Given the description of an element on the screen output the (x, y) to click on. 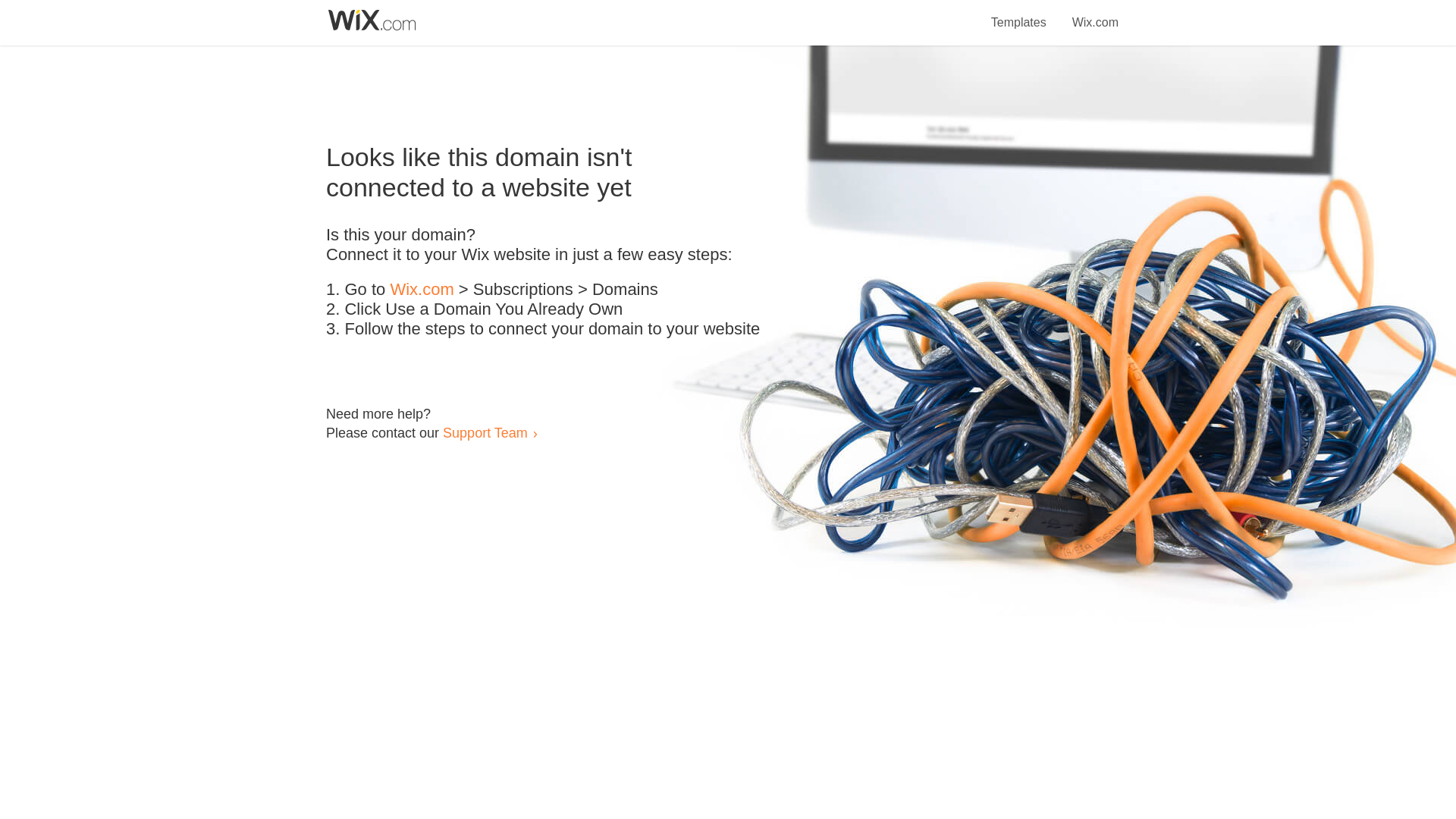
Support Team (484, 432)
Wix.com (1095, 14)
Templates (1018, 14)
Wix.com (421, 289)
